Given the description of an element on the screen output the (x, y) to click on. 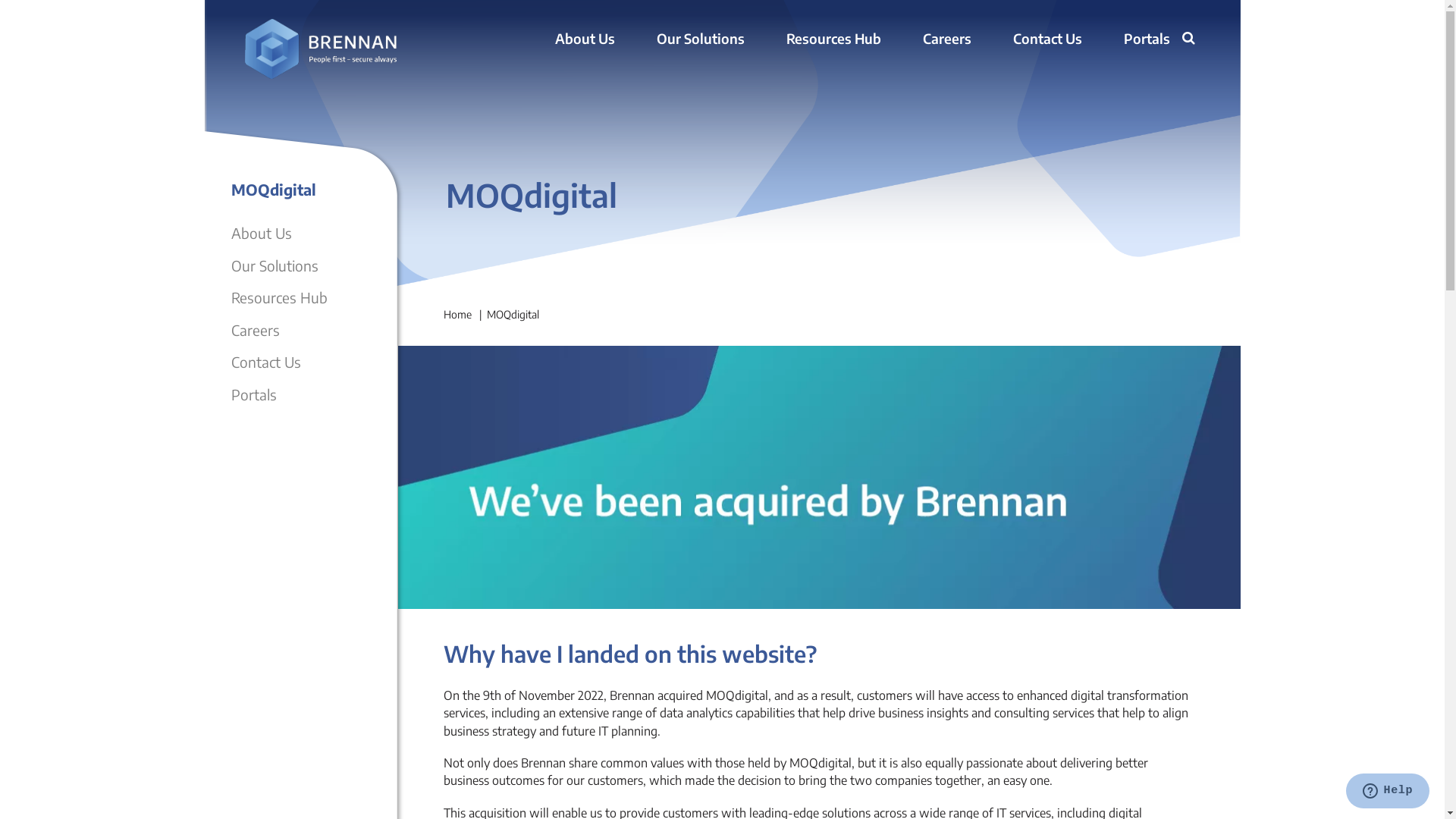
Search Element type: text (1190, 40)
Portals Element type: text (253, 394)
Our Solutions Element type: text (700, 39)
Contact Us Element type: text (1047, 39)
Portals Element type: text (1146, 39)
About Us Element type: text (585, 39)
Careers Element type: text (946, 39)
Careers Element type: text (254, 329)
Resources Hub Element type: text (278, 297)
Our Solutions Element type: text (273, 265)
About Us Element type: text (260, 232)
Resources Hub Element type: text (832, 39)
Close Element type: text (1172, 59)
Opens a widget where you can chat to one of our agents Element type: hover (1387, 792)
Home Element type: text (456, 313)
Contact Us Element type: text (265, 361)
